Given the description of an element on the screen output the (x, y) to click on. 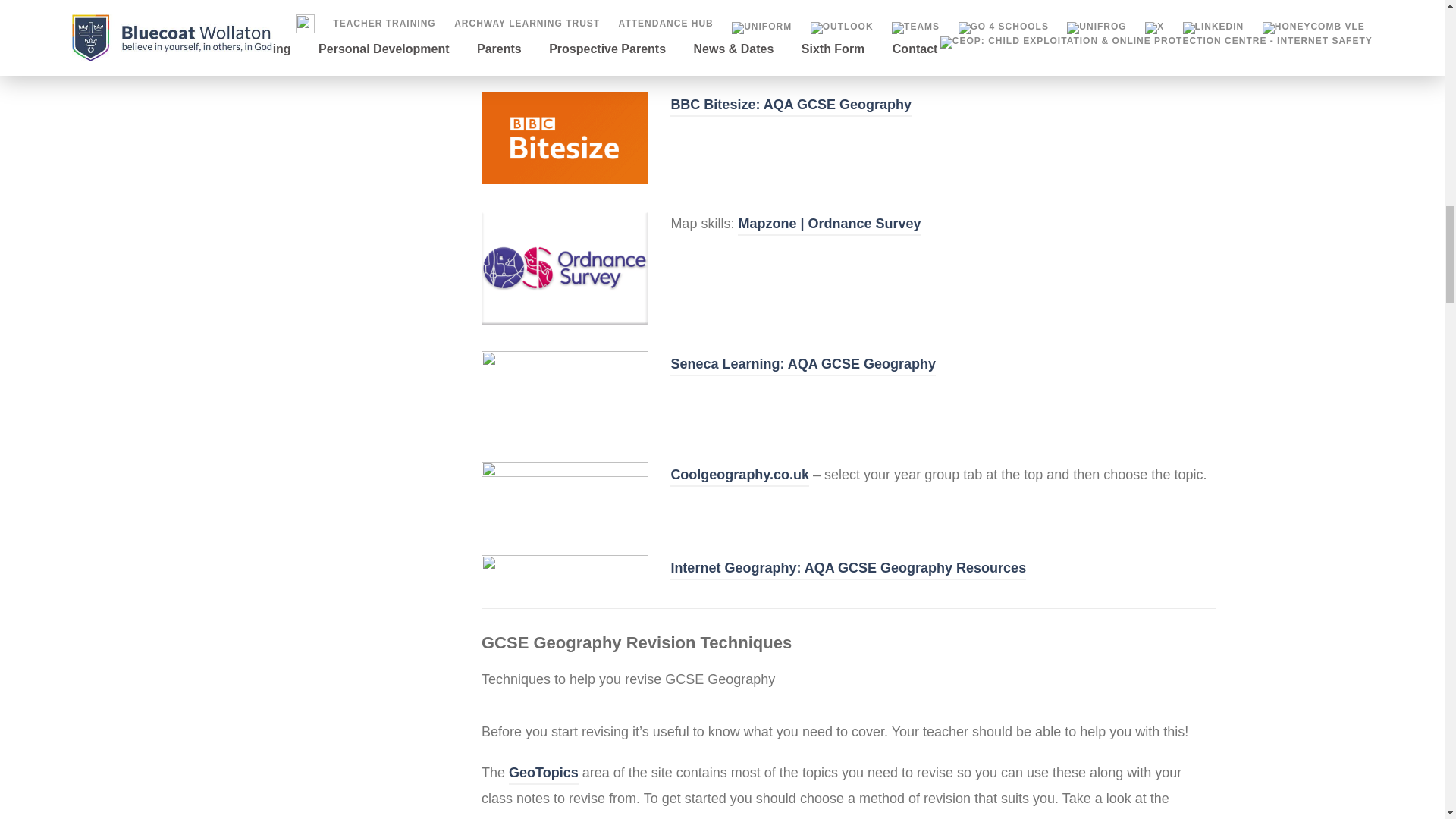
Rsz Senecalogo Min (564, 392)
P088btjf (564, 137)
Ordnance Survey Logo (564, 267)
